Given the description of an element on the screen output the (x, y) to click on. 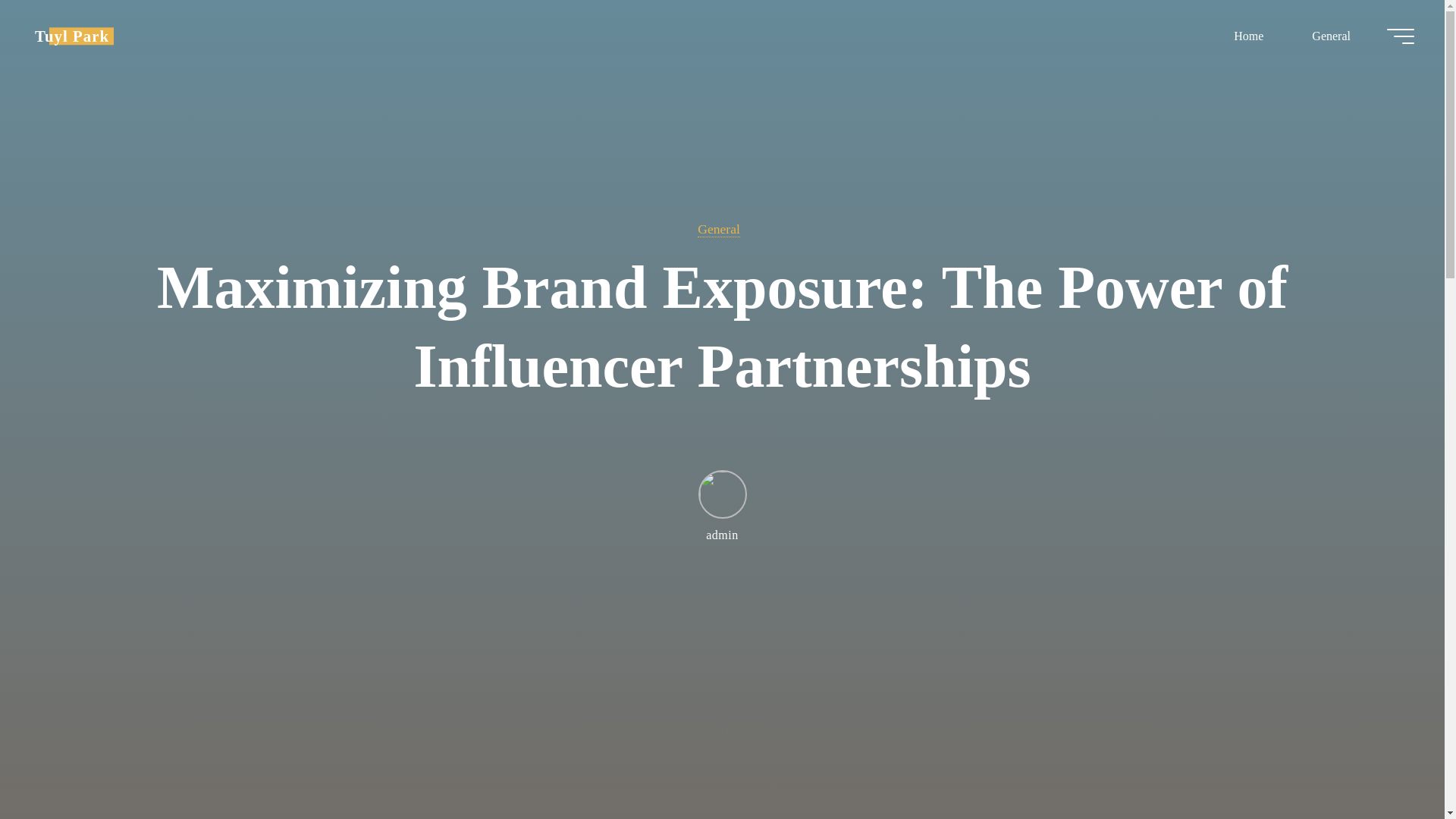
General (718, 229)
Read more (721, 724)
Home (1248, 35)
Tuyl Park (71, 36)
Blog (71, 36)
General (1330, 35)
